Given the description of an element on the screen output the (x, y) to click on. 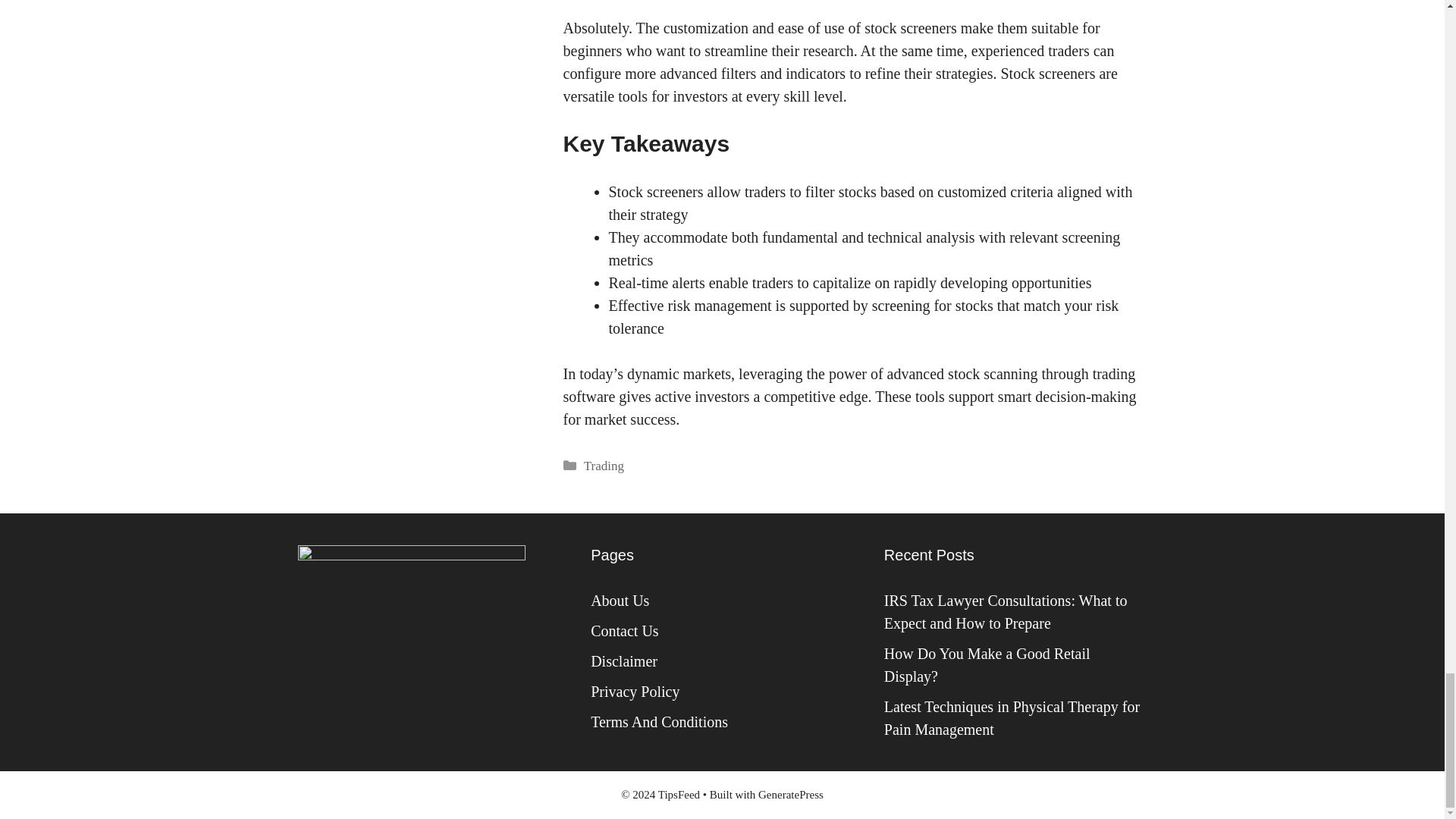
Contact Us (624, 630)
Privacy Policy (635, 691)
About Us (620, 600)
Trading (603, 465)
Latest Techniques in Physical Therapy for Pain Management (1011, 717)
How Do You Make a Good Retail Display? (986, 664)
Disclaimer (624, 660)
GeneratePress (791, 794)
Terms And Conditions (659, 721)
